Given the description of an element on the screen output the (x, y) to click on. 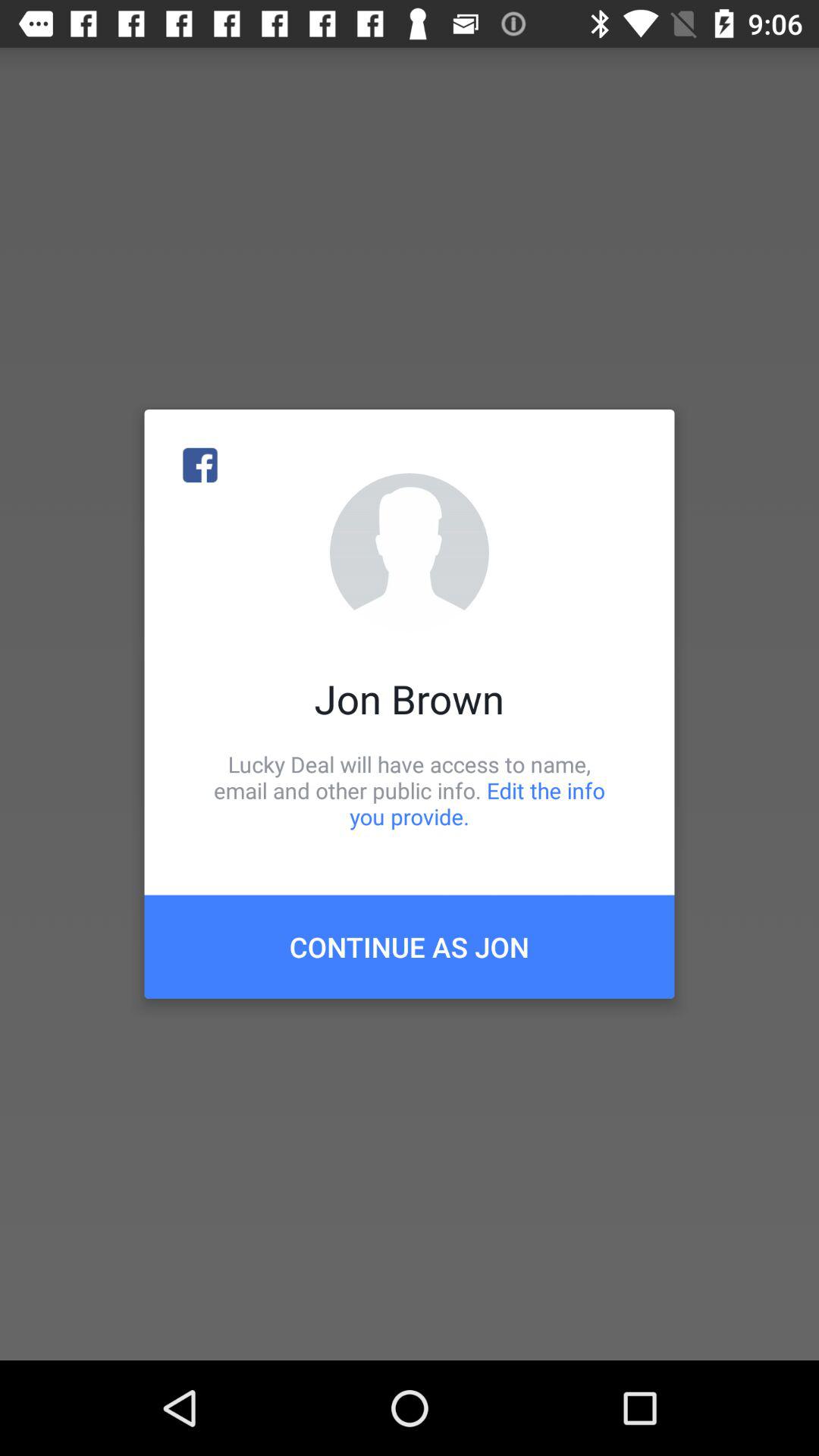
open lucky deal will item (409, 790)
